Given the description of an element on the screen output the (x, y) to click on. 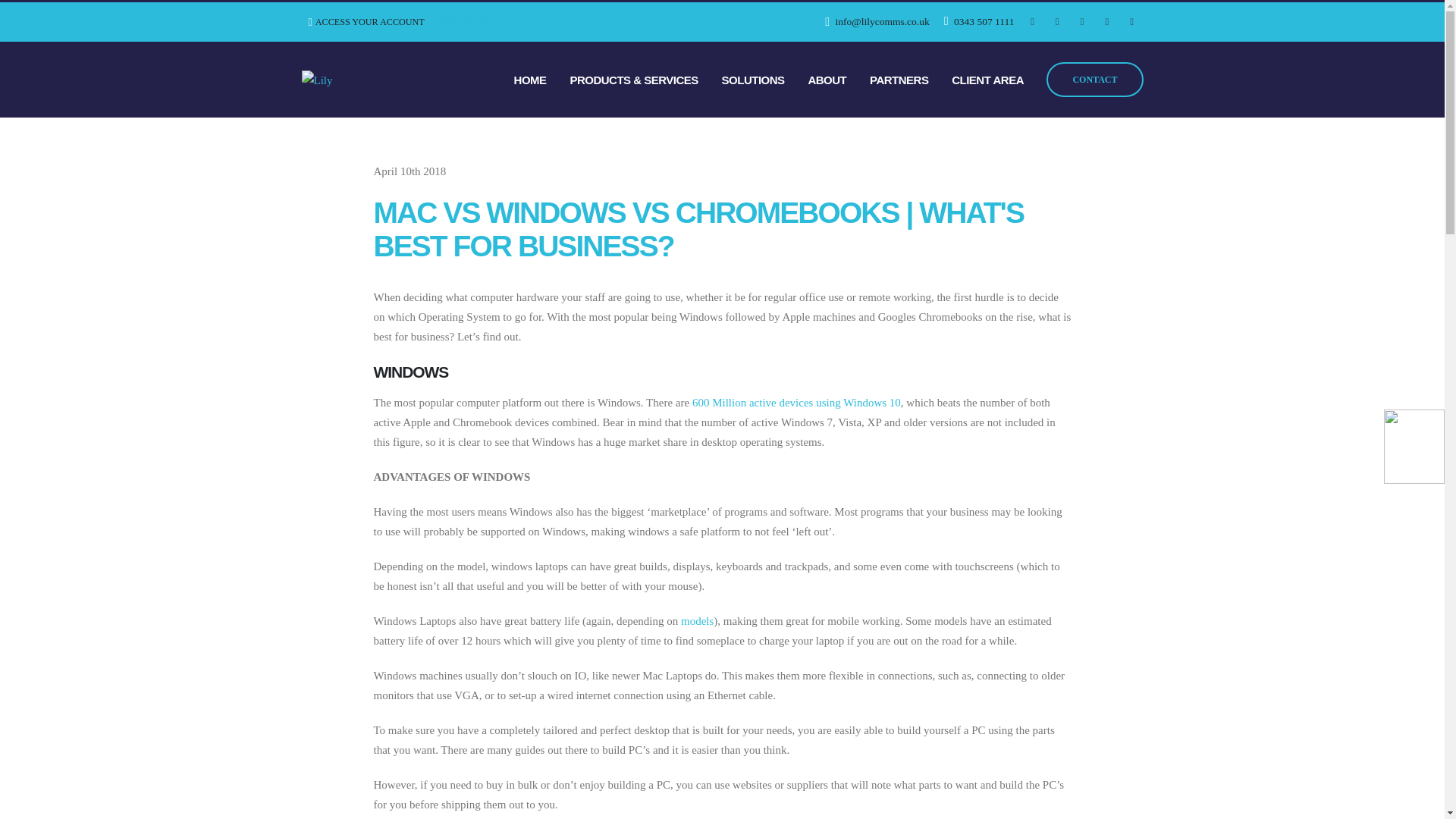
TRUSTPILOT (462, 20)
Twitter (1056, 21)
instagram (1107, 21)
ACCESS YOUR ACCOUNT (366, 22)
0343 507 1111 (979, 22)
SOLUTIONS (752, 79)
Linkedin (1082, 21)
youtube (1131, 21)
Facebook (1032, 21)
